Given the description of an element on the screen output the (x, y) to click on. 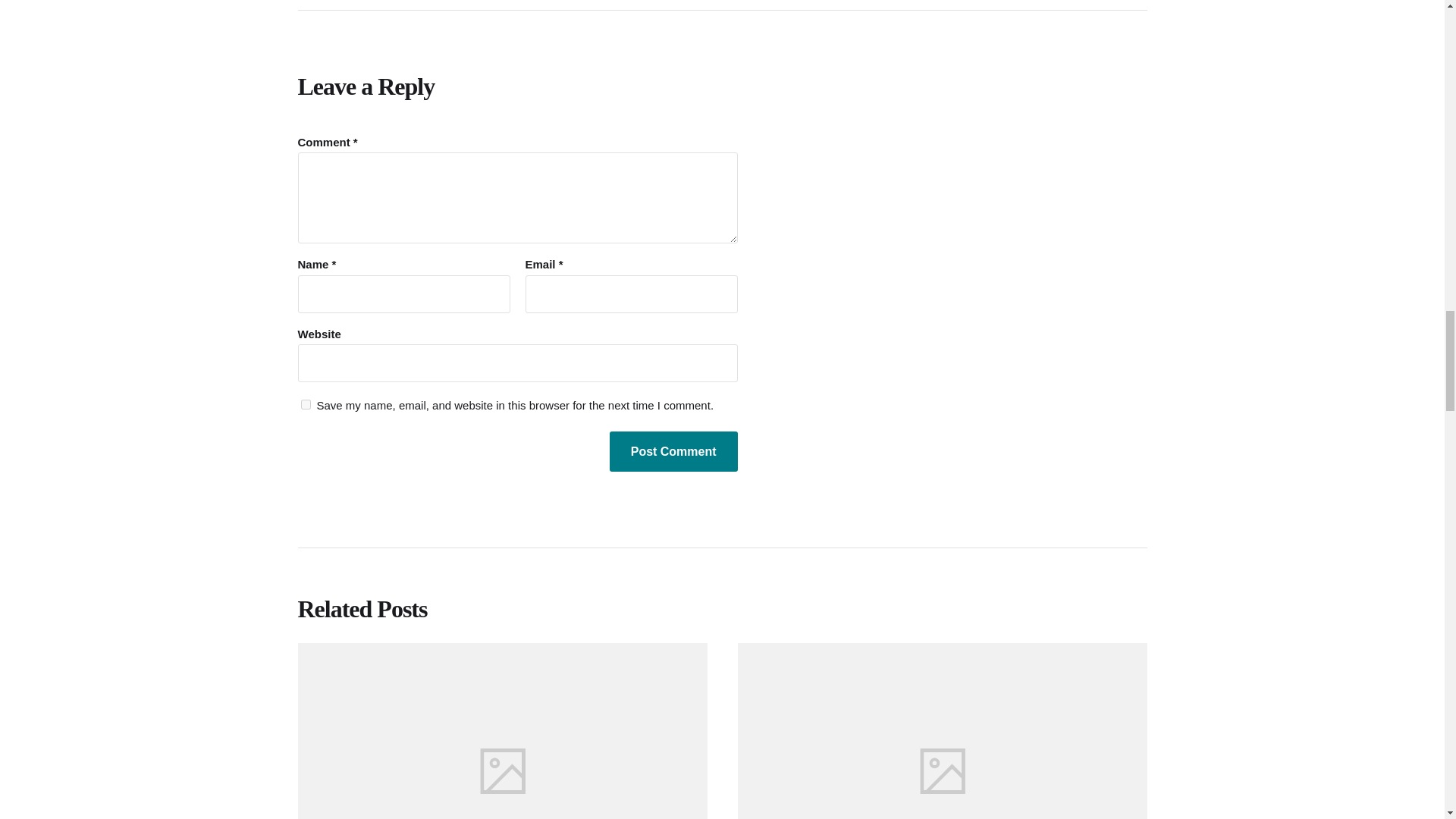
Post Comment (674, 451)
Post Comment (674, 451)
yes (304, 404)
